Given the description of an element on the screen output the (x, y) to click on. 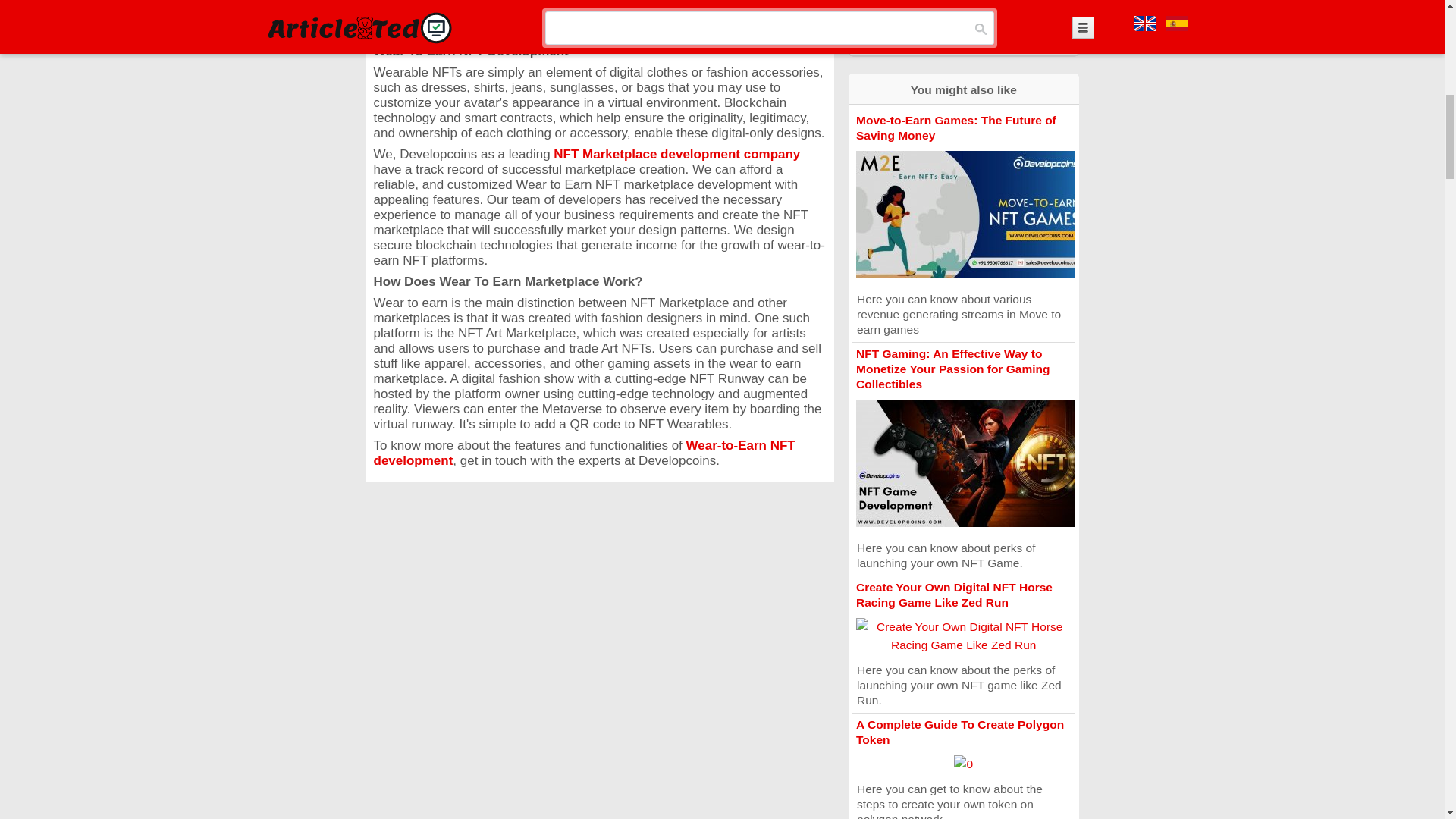
NFT Marketplace development company (676, 154)
Create Your Own Digital NFT Horse Racing Game Like Zed Run (954, 594)
A Complete Guide To Create Polygon Token (960, 732)
Wear-to-Earn NFT development (583, 452)
Move-to-Earn Games: The Future of Saving Money (956, 127)
